Given the description of an element on the screen output the (x, y) to click on. 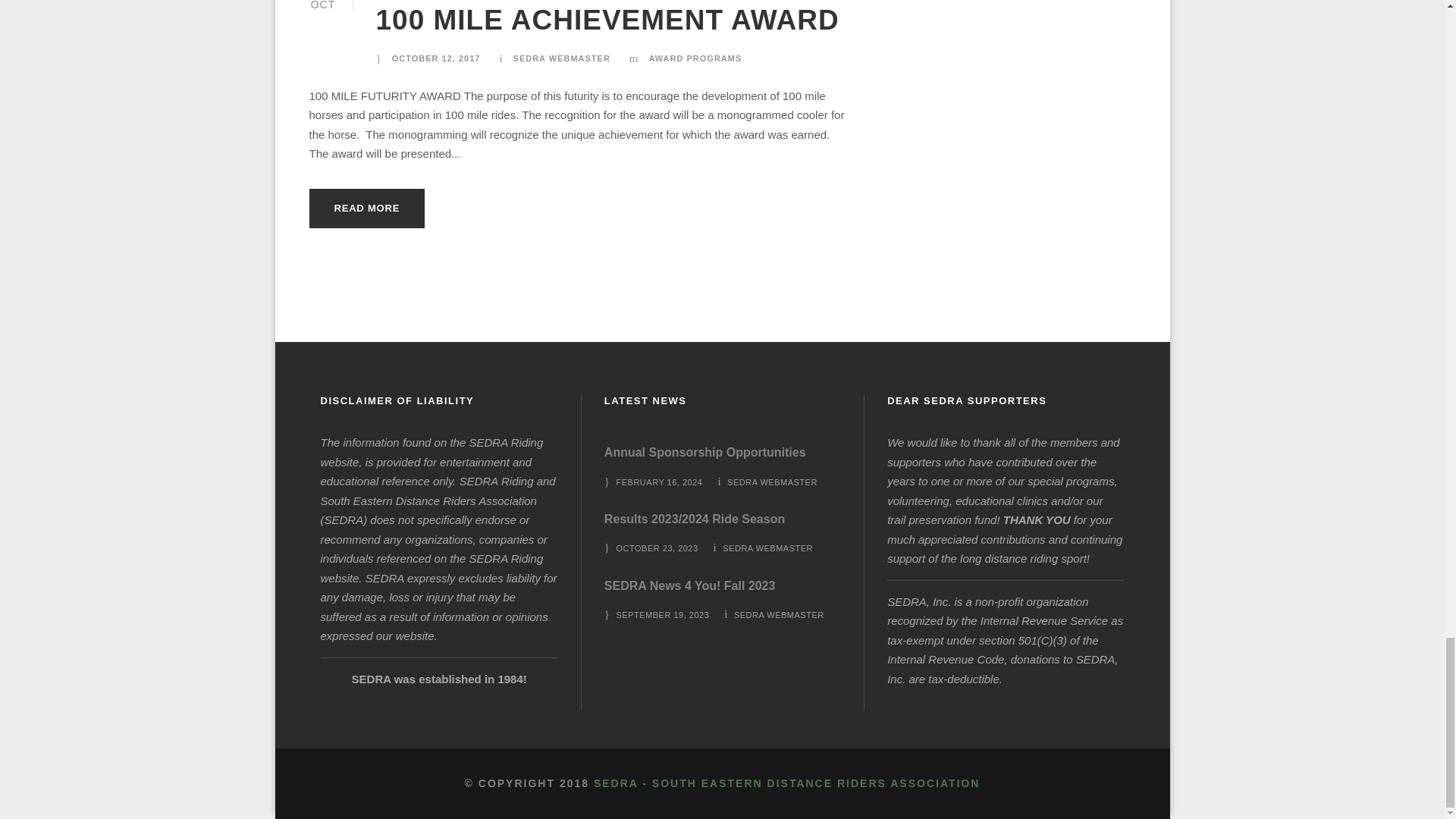
Posts by SEDRA Webmaster (561, 58)
Posts by SEDRA Webmaster (767, 547)
Posts by SEDRA Webmaster (778, 614)
Posts by SEDRA Webmaster (771, 481)
